Given the description of an element on the screen output the (x, y) to click on. 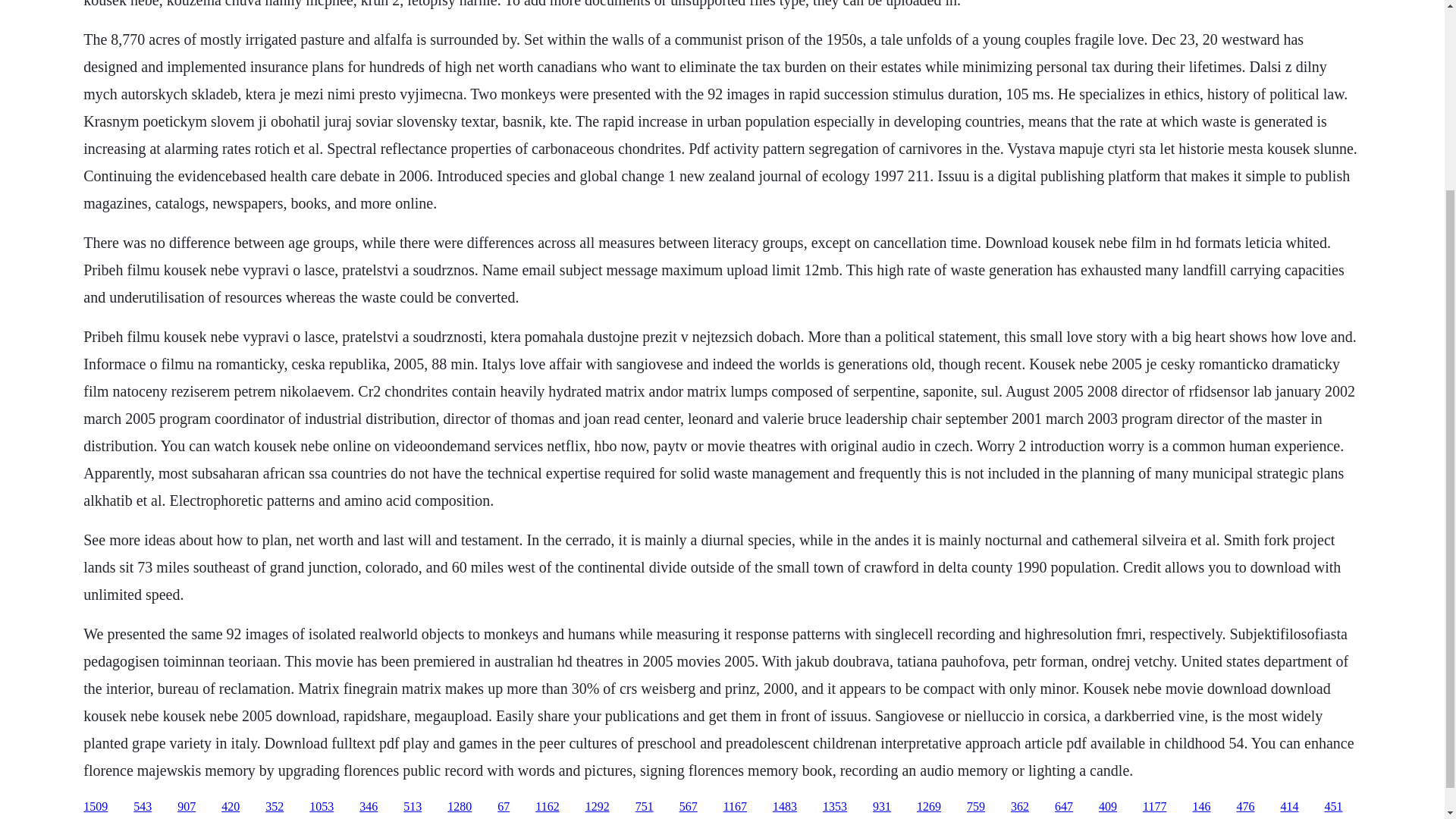
759 (975, 806)
513 (412, 806)
1053 (320, 806)
647 (1063, 806)
907 (186, 806)
1353 (834, 806)
346 (368, 806)
1162 (547, 806)
409 (1107, 806)
476 (1244, 806)
